Given the description of an element on the screen output the (x, y) to click on. 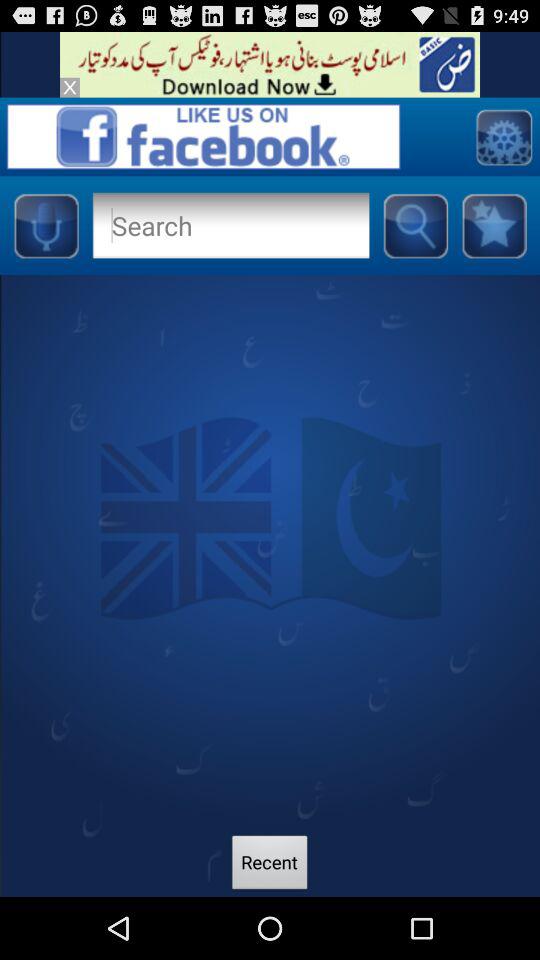
use sound to search (45, 225)
